Given the description of an element on the screen output the (x, y) to click on. 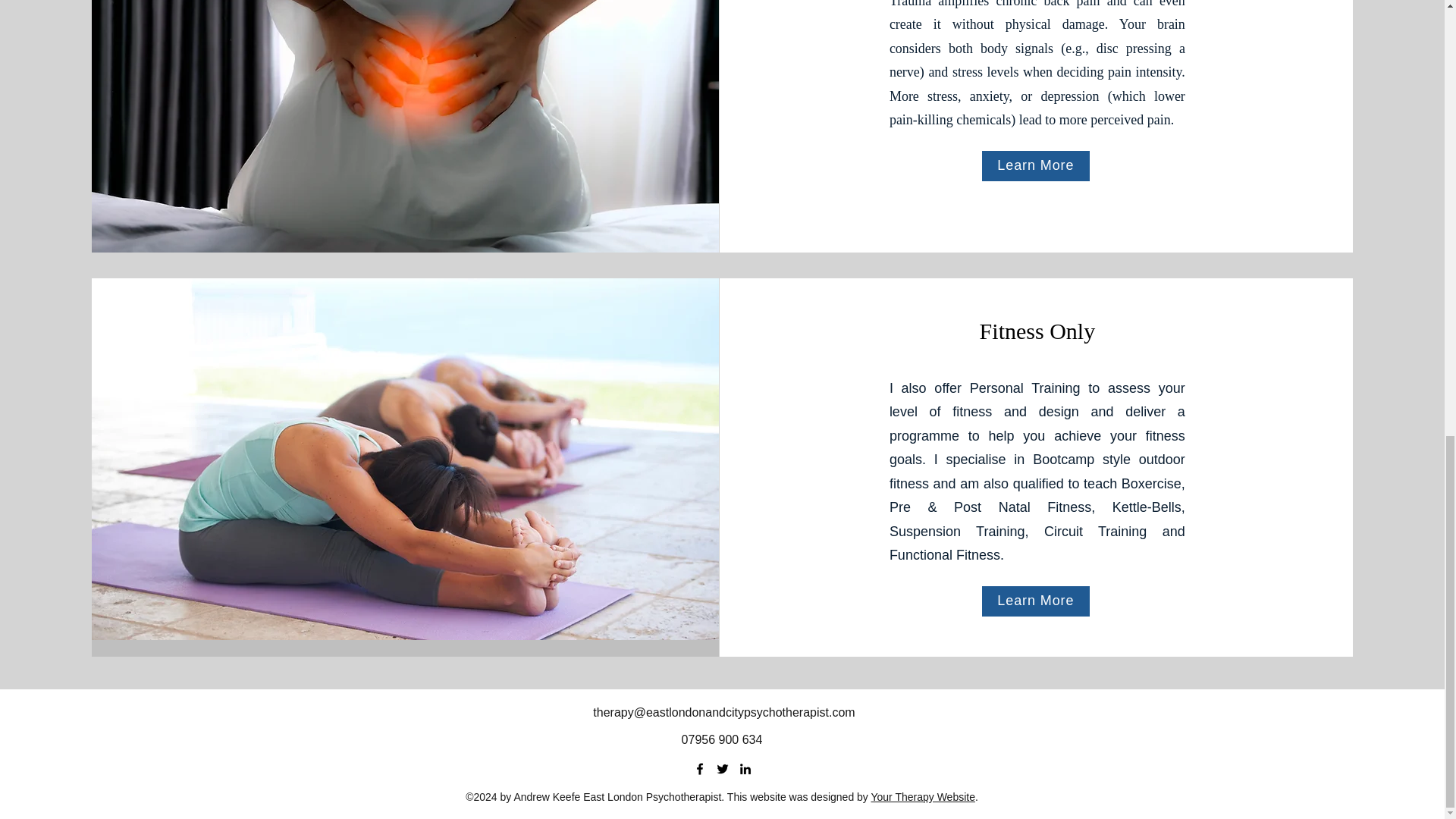
07956 900 634 (721, 739)
Your Therapy Website (922, 797)
Learn More (1035, 601)
Learn More (1035, 165)
